Given the description of an element on the screen output the (x, y) to click on. 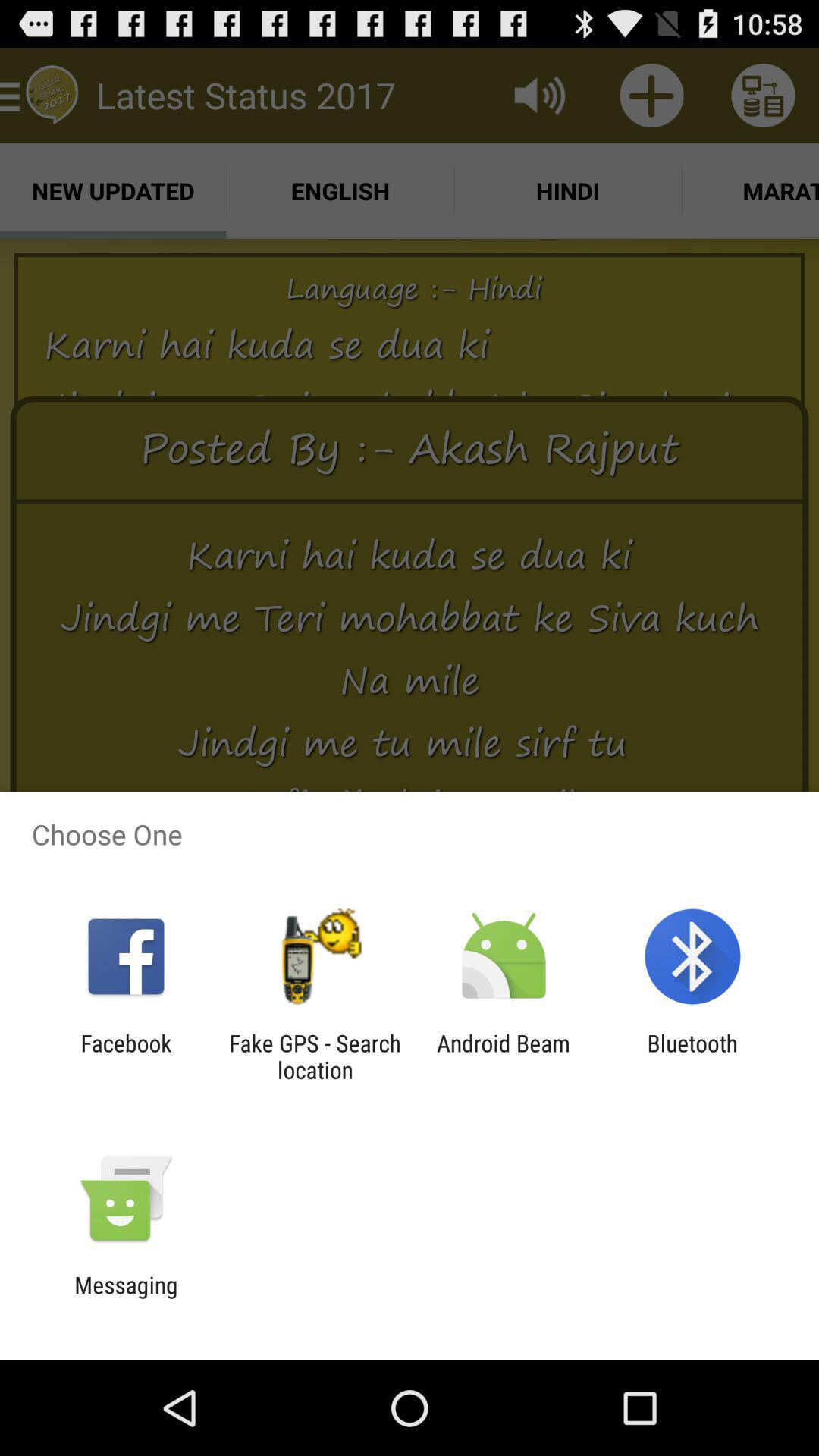
click the item to the right of the fake gps search item (503, 1056)
